Given the description of an element on the screen output the (x, y) to click on. 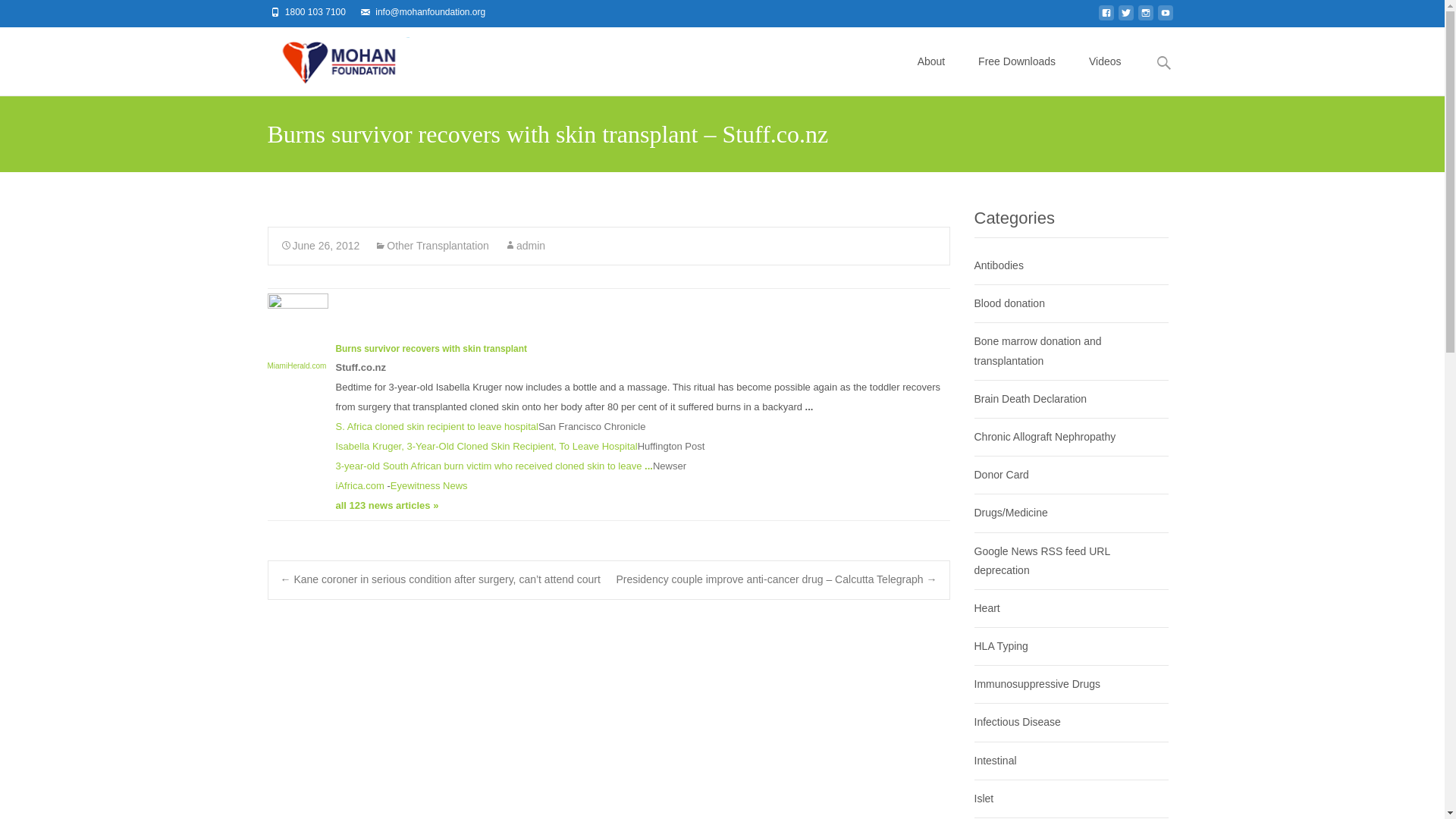
Other Transplantation (431, 245)
HLA Typing (1000, 645)
Intestinal (995, 760)
Infectious Disease (1016, 721)
Search for: (1163, 62)
June 26, 2012 (320, 245)
Free Downloads (1016, 61)
View all posts by admin (523, 245)
twitter (1125, 17)
Search (18, 14)
Islet (983, 798)
Antibodies (998, 265)
